Given the description of an element on the screen output the (x, y) to click on. 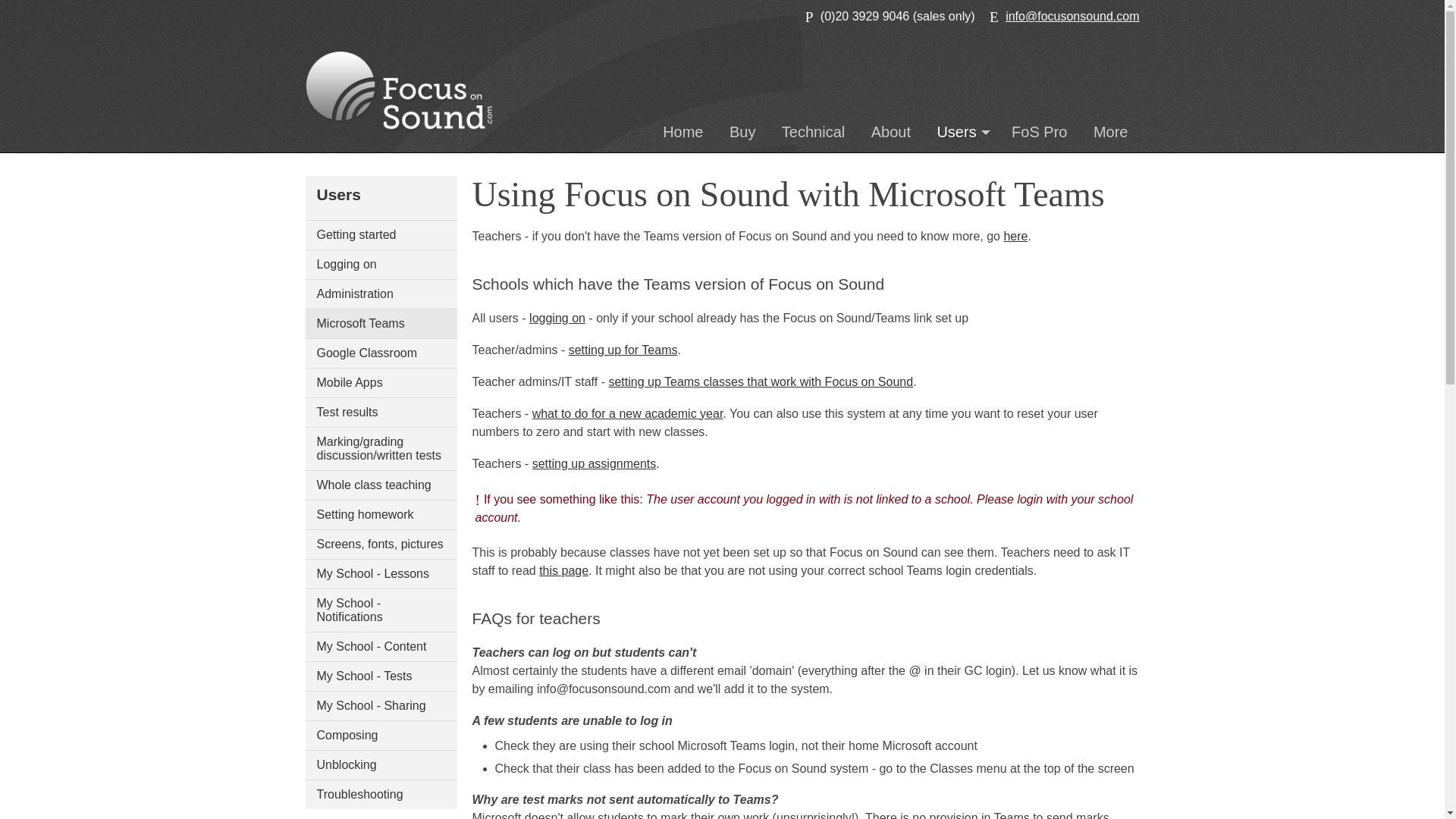
what to do for a new academic year (627, 413)
here (1015, 236)
Technical (813, 131)
More (1110, 131)
About (890, 131)
Users (959, 131)
Buy (742, 131)
this page (563, 570)
Home (682, 131)
FoS Pro (1039, 131)
Home (682, 131)
More (1110, 131)
Technical (813, 131)
Users (959, 131)
setting up for Teams (623, 349)
